Given the description of an element on the screen output the (x, y) to click on. 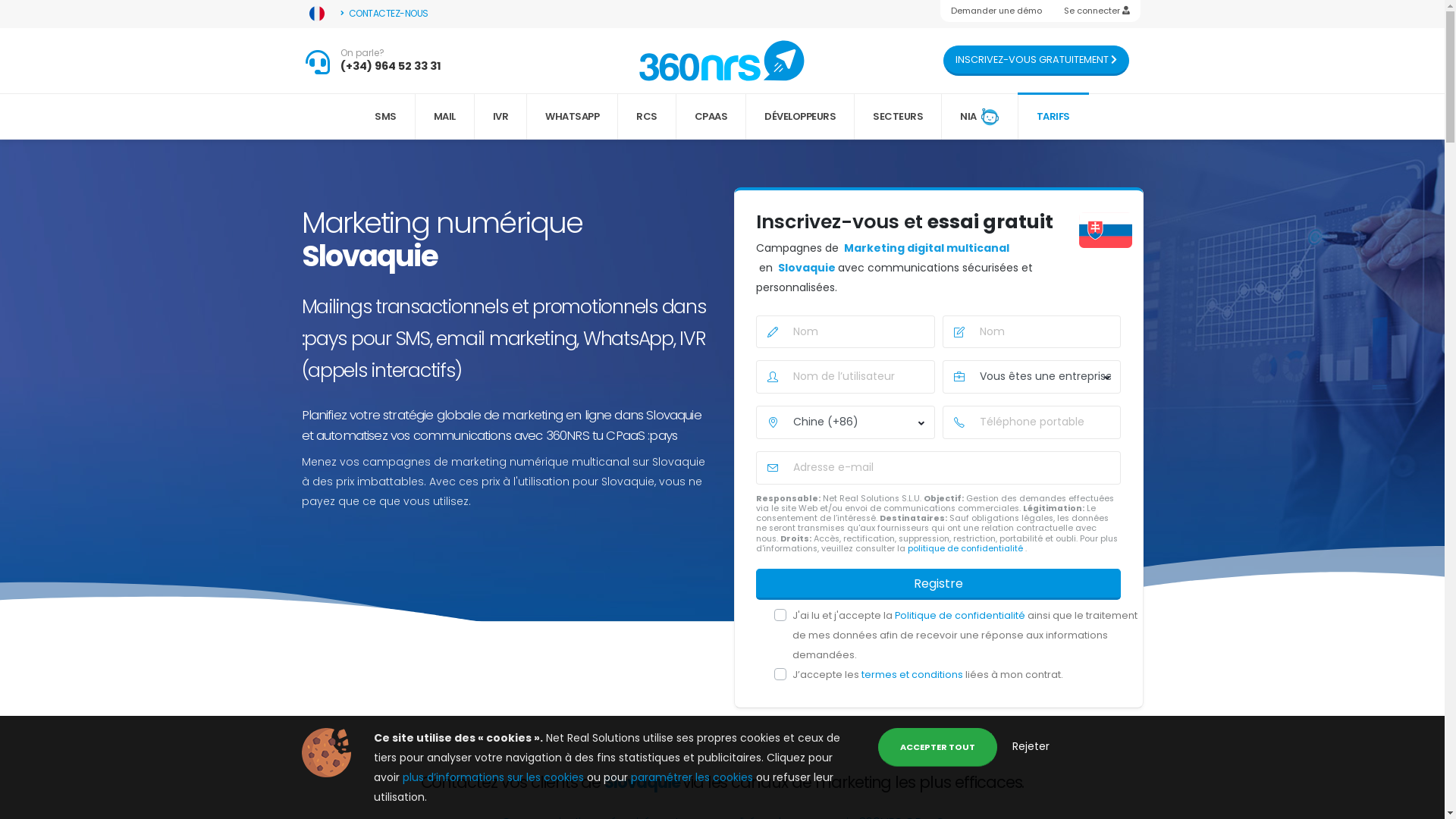
(+34) 964 52 33 31 Element type: text (390, 65)
IVR Element type: text (500, 116)
Se connecter Element type: text (1095, 10)
Rejeter Element type: text (1029, 745)
Le nom ne peut contenir que des lettres. Element type: hover (845, 331)
ACCEPTER TOUT Element type: text (937, 747)
MAIL Element type: text (444, 116)
termes et conditions Element type: text (913, 674)
CPAAS Element type: text (711, 116)
SECTEURS Element type: text (897, 116)
Registre Element type: text (938, 583)
NIA Element type: text (979, 116)
SMS Element type: text (385, 116)
TARIFS Element type: text (1053, 116)
CONTACTEZ-NOUS Element type: text (384, 13)
Les noms de famille ne peuvent contenir que des lettres. Element type: hover (1030, 331)
WHATSAPP Element type: text (572, 116)
RCS Element type: text (647, 116)
INSCRIVEZ-VOUS GRATUITEMENT Element type: text (1036, 60)
